Given the description of an element on the screen output the (x, y) to click on. 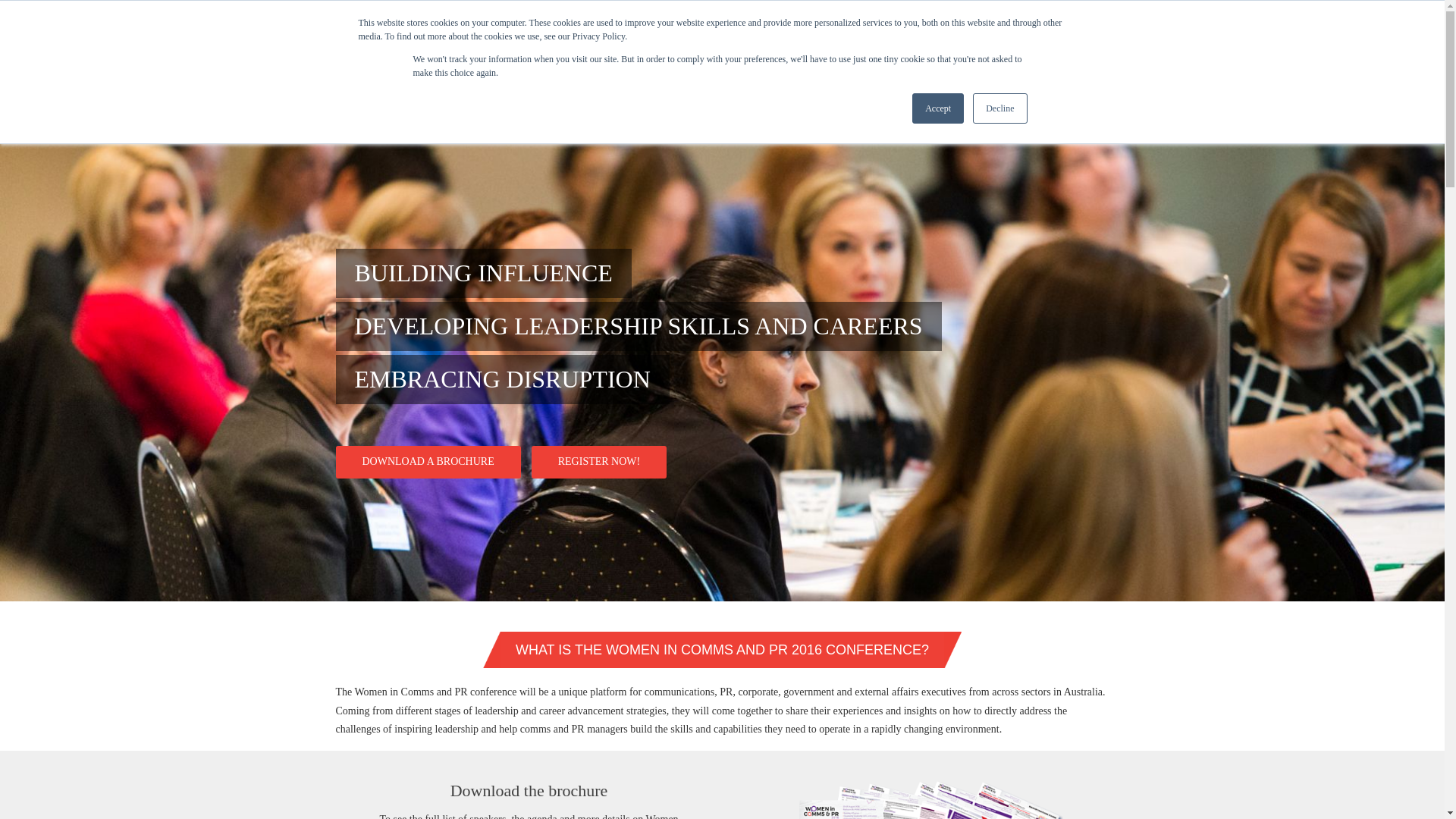
Decline (999, 108)
About (797, 107)
Home (748, 107)
Accept (937, 108)
Conference (857, 107)
Home (456, 45)
